Given the description of an element on the screen output the (x, y) to click on. 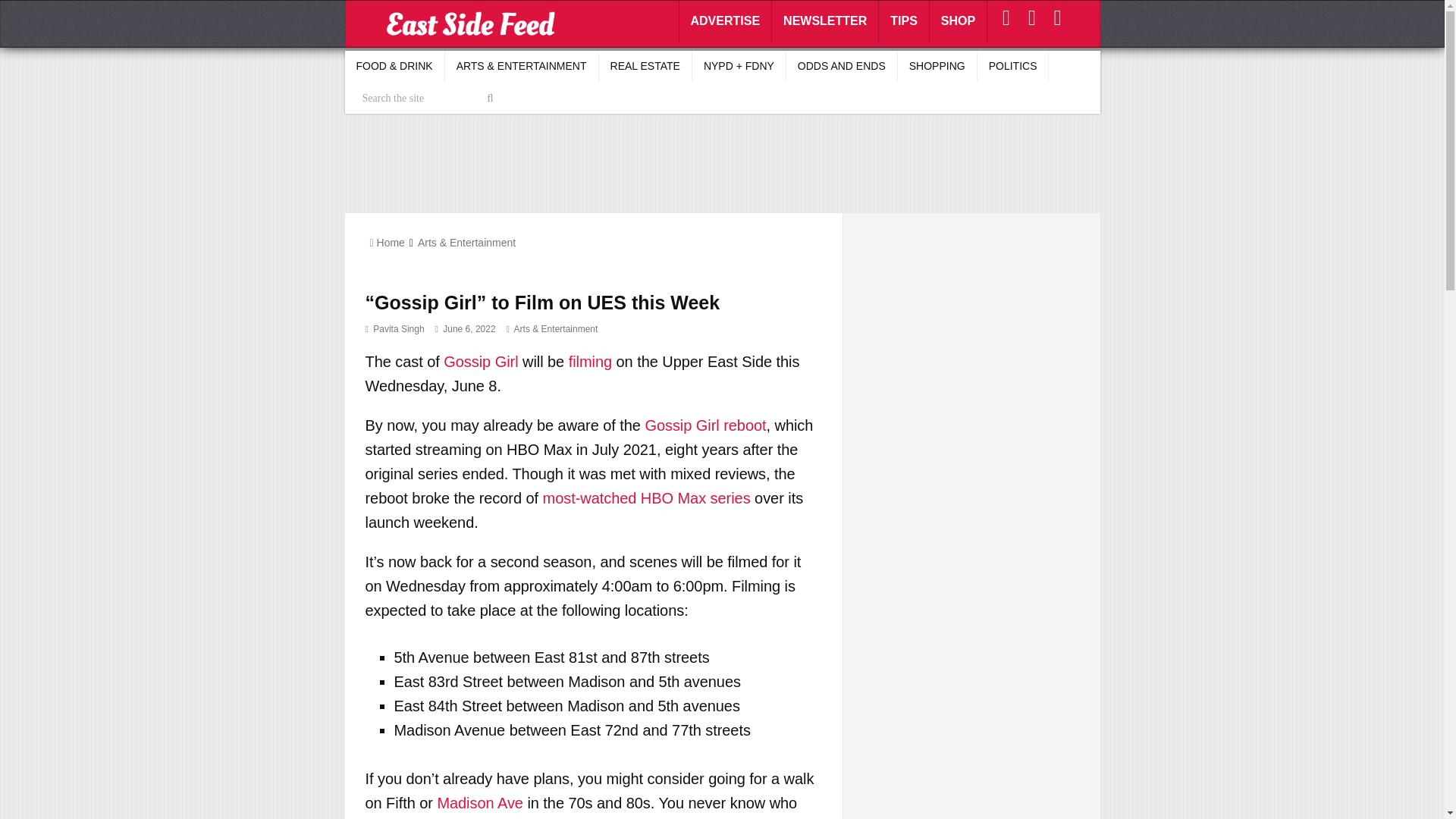
ADVERTISE (724, 21)
Home (386, 242)
NEWSLETTER (825, 21)
Instagram (1007, 17)
Madison Ave (479, 802)
filming (590, 361)
Posts by Pavita Singh (397, 328)
Advertisement (721, 162)
Gossip Girl reboot (705, 425)
POLITICS (1012, 65)
